Given the description of an element on the screen output the (x, y) to click on. 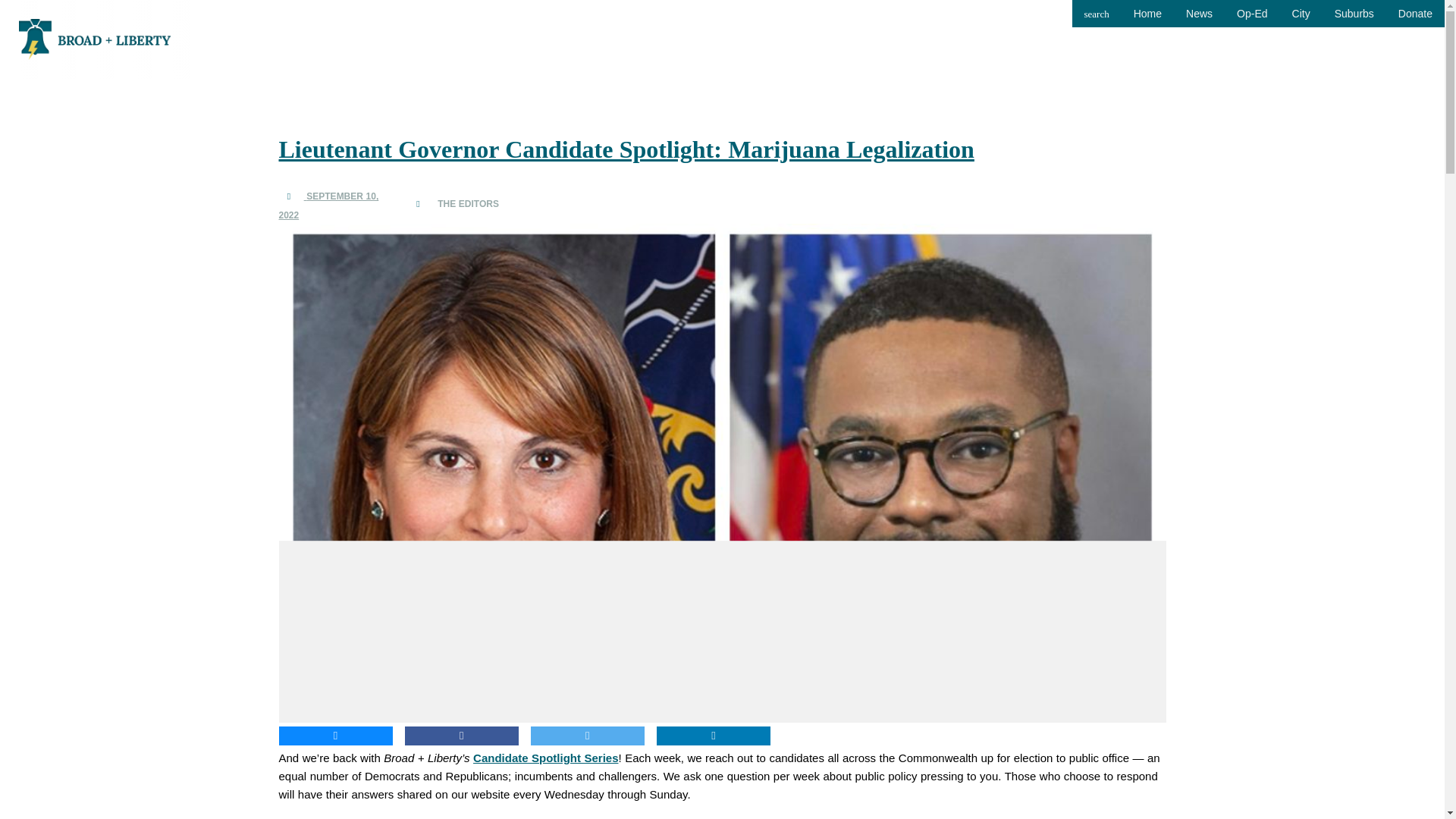
Suburbs (1354, 13)
Op-Ed (1251, 13)
News (1198, 13)
Home (1147, 13)
Op-Ed (1251, 13)
Search (1096, 13)
SEPTEMBER 10, 2022 (328, 205)
City (1300, 13)
City (1300, 13)
Suburbs (1354, 13)
search (1096, 13)
News (1198, 13)
Latest News (1147, 13)
Broad and Liberty (94, 38)
